Given the description of an element on the screen output the (x, y) to click on. 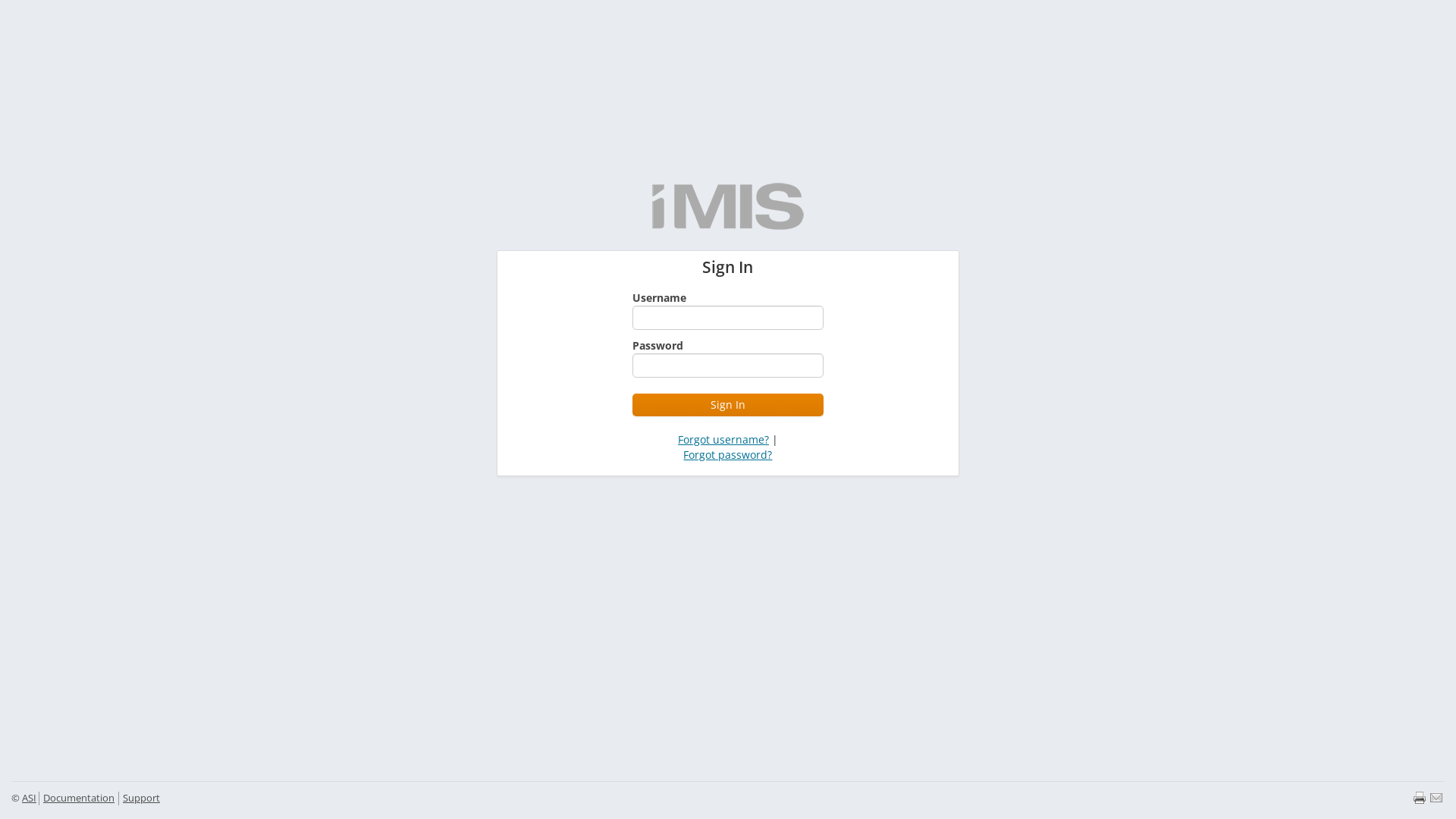
ASI Element type: text (28, 797)
Print page Element type: text (1419, 797)
Email page Element type: text (1436, 797)
Support Element type: text (141, 797)
Forgot password? Element type: text (727, 454)
Documentation Element type: text (78, 797)
Sign In Element type: text (727, 404)
Forgot username? Element type: text (722, 439)
